Given the description of an element on the screen output the (x, y) to click on. 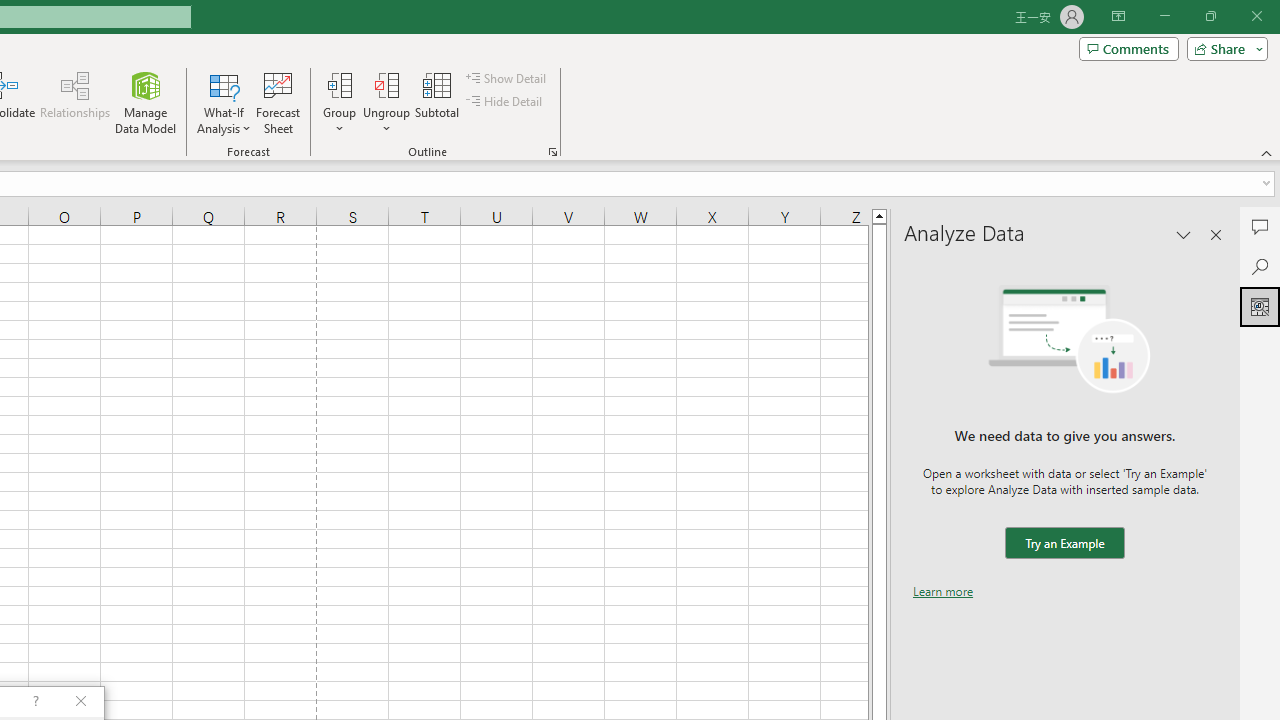
Learn more (943, 591)
Search (1260, 266)
Subtotal (437, 102)
